Given the description of an element on the screen output the (x, y) to click on. 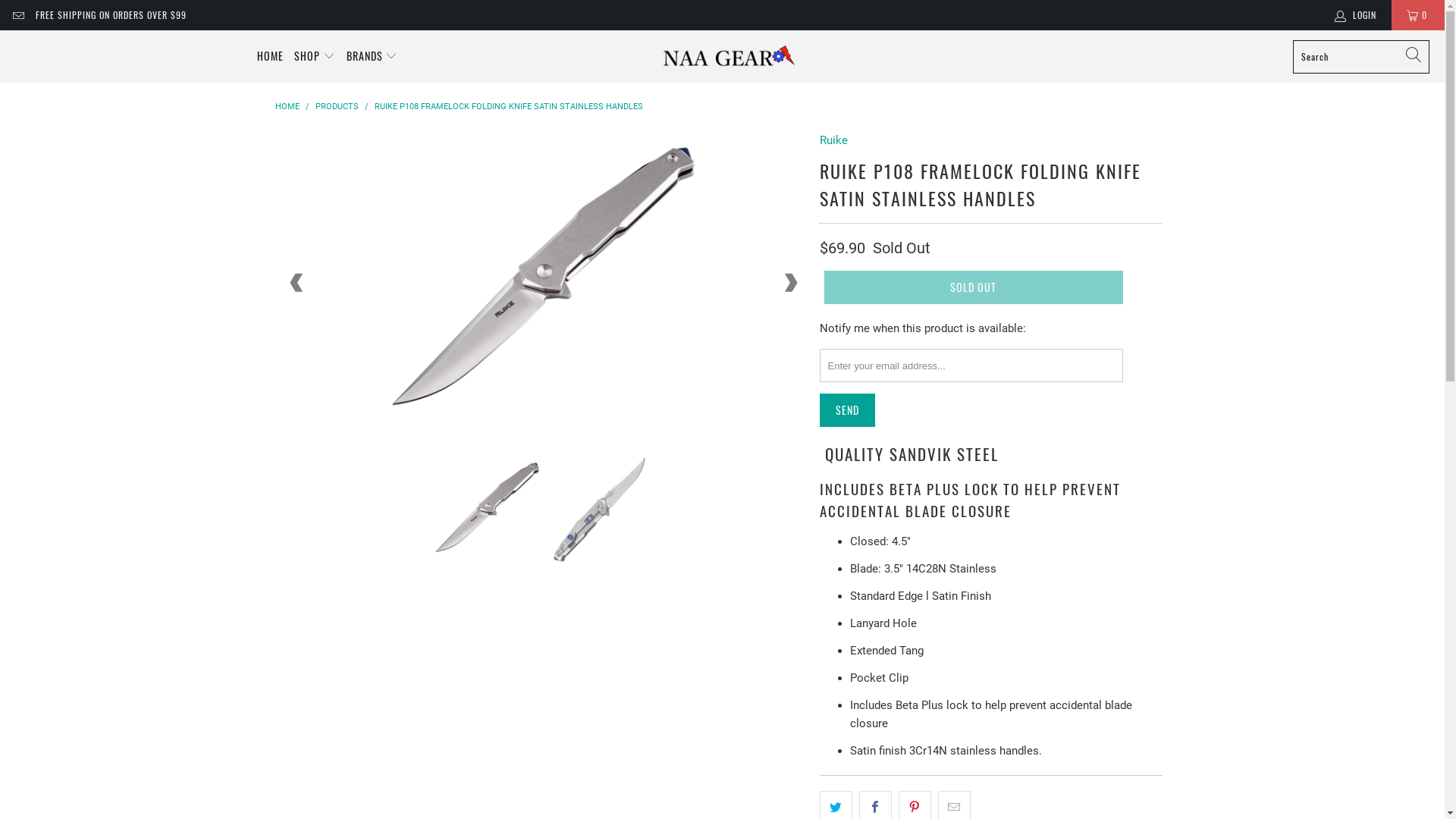
Ruike Element type: text (833, 140)
0 Element type: text (1417, 15)
BRANDS Element type: text (372, 56)
RUIKE P108 FRAMELOCK FOLDING KNIFE SATIN STAINLESS HANDLES Element type: text (508, 106)
Naa Gear Element type: hover (728, 56)
FREE SHIPPING ON ORDERS OVER $99 Element type: text (110, 15)
HOME Element type: text (270, 56)
SOLD OUT Element type: text (972, 287)
Send Element type: text (846, 409)
HOME Element type: text (286, 106)
PRODUCTS Element type: text (336, 106)
Email Naa Gear Element type: hover (17, 14)
SHOP Element type: text (314, 56)
LOGIN Element type: text (1356, 15)
